Given the description of an element on the screen output the (x, y) to click on. 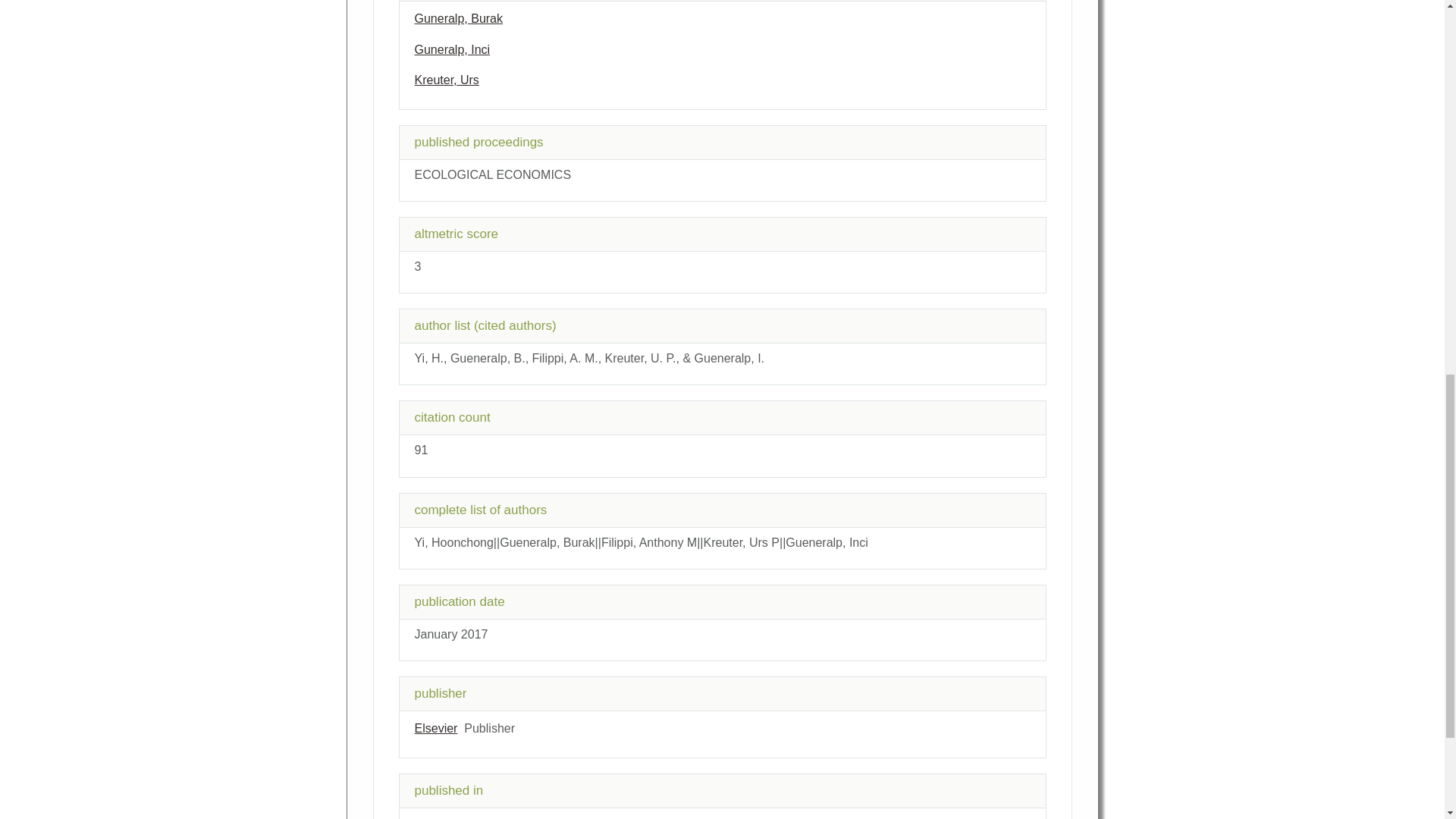
author name (446, 79)
author name (457, 18)
Guneralp, Inci (451, 49)
Guneralp, Burak (457, 18)
Elsevier (435, 727)
Kreuter, Urs (446, 79)
author name (451, 49)
